Given the description of an element on the screen output the (x, y) to click on. 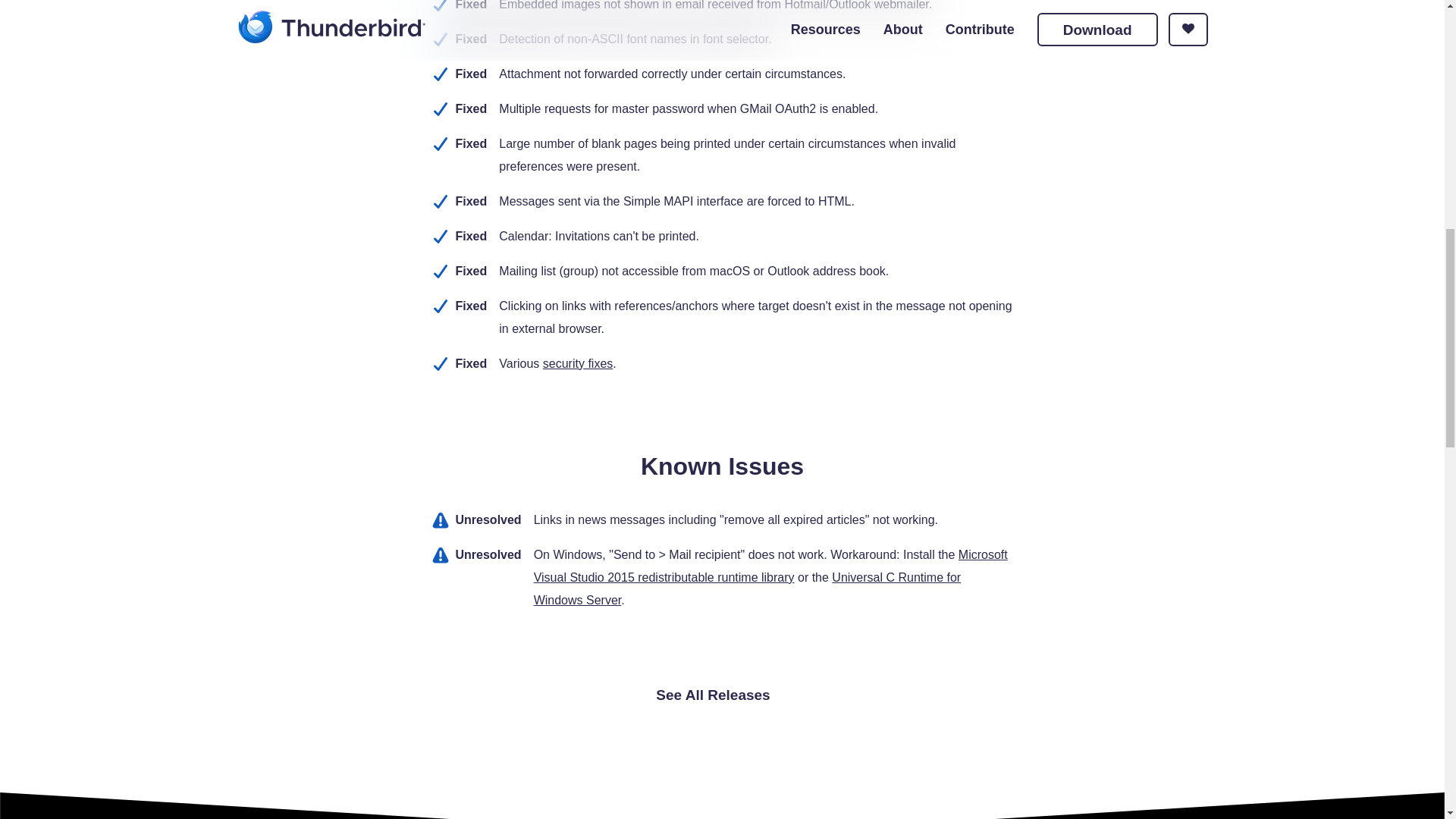
See All Releases (721, 694)
Universal C Runtime for Windows Server (747, 588)
security fixes (577, 363)
Microsoft Visual Studio 2015 redistributable runtime library (770, 565)
